Given the description of an element on the screen output the (x, y) to click on. 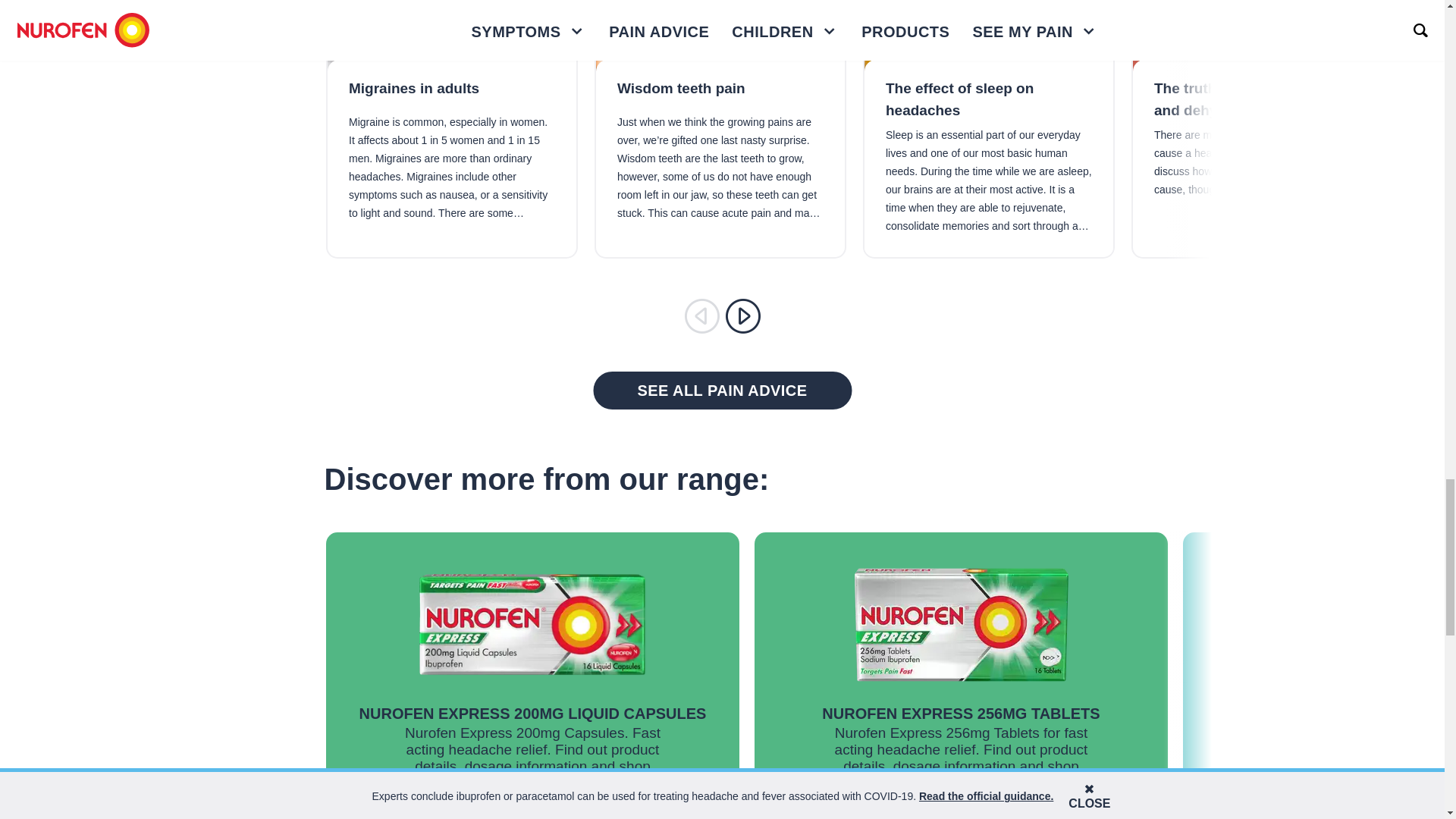
Nurofen Express 200mg Liquid Capsules (532, 712)
The effect of sleep on headaches (988, 101)
The truth behind headaches and dehydration (1256, 101)
Wisdom teeth pain    (720, 95)
Nurofen Express 256mg Tablets (960, 712)
Migraines in adults (451, 95)
